Given the description of an element on the screen output the (x, y) to click on. 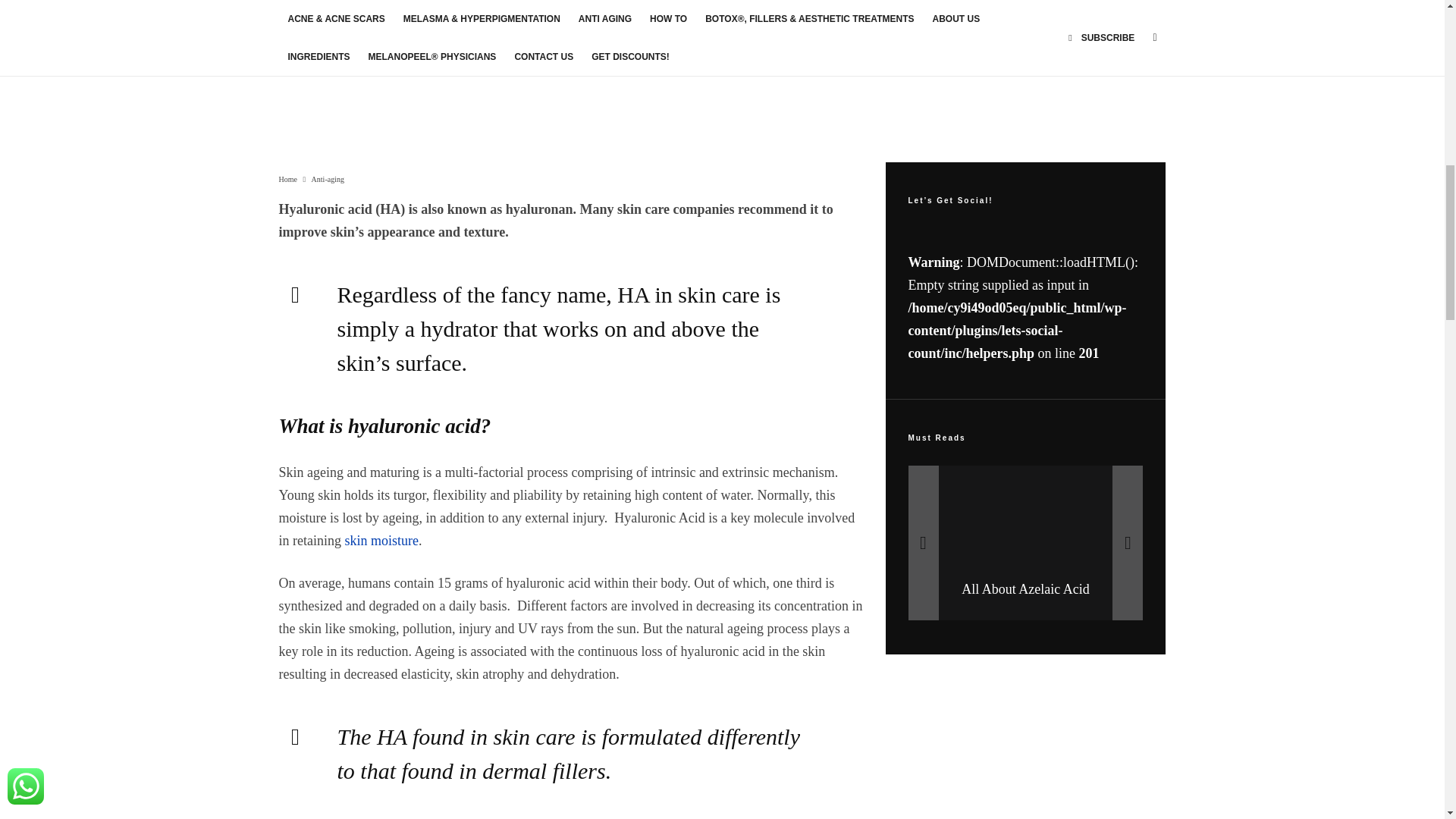
skin moisture (381, 540)
Home (288, 179)
Anti-aging (327, 179)
